Given the description of an element on the screen output the (x, y) to click on. 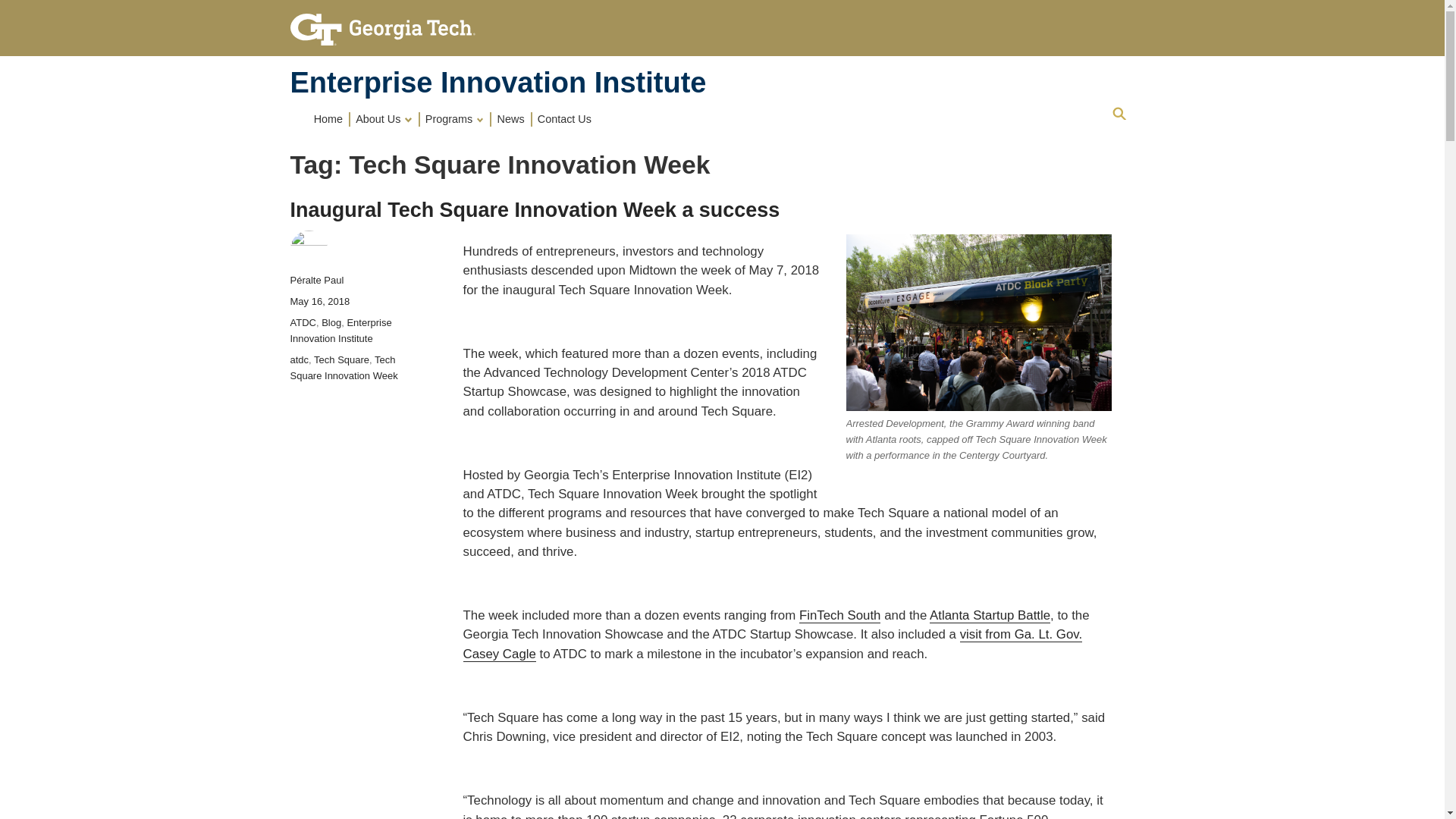
FinTech South (839, 615)
Atlanta Startup Battle (989, 615)
Contact Us (564, 119)
Enterprise Innovation Institute (497, 82)
About Us (385, 119)
Inaugural Tech Square Innovation Week a success (533, 210)
visit from Ga. Lt. Gov. Casey Cagle (772, 643)
Home (497, 82)
News (511, 119)
Programs (456, 119)
Home (328, 119)
